Given the description of an element on the screen output the (x, y) to click on. 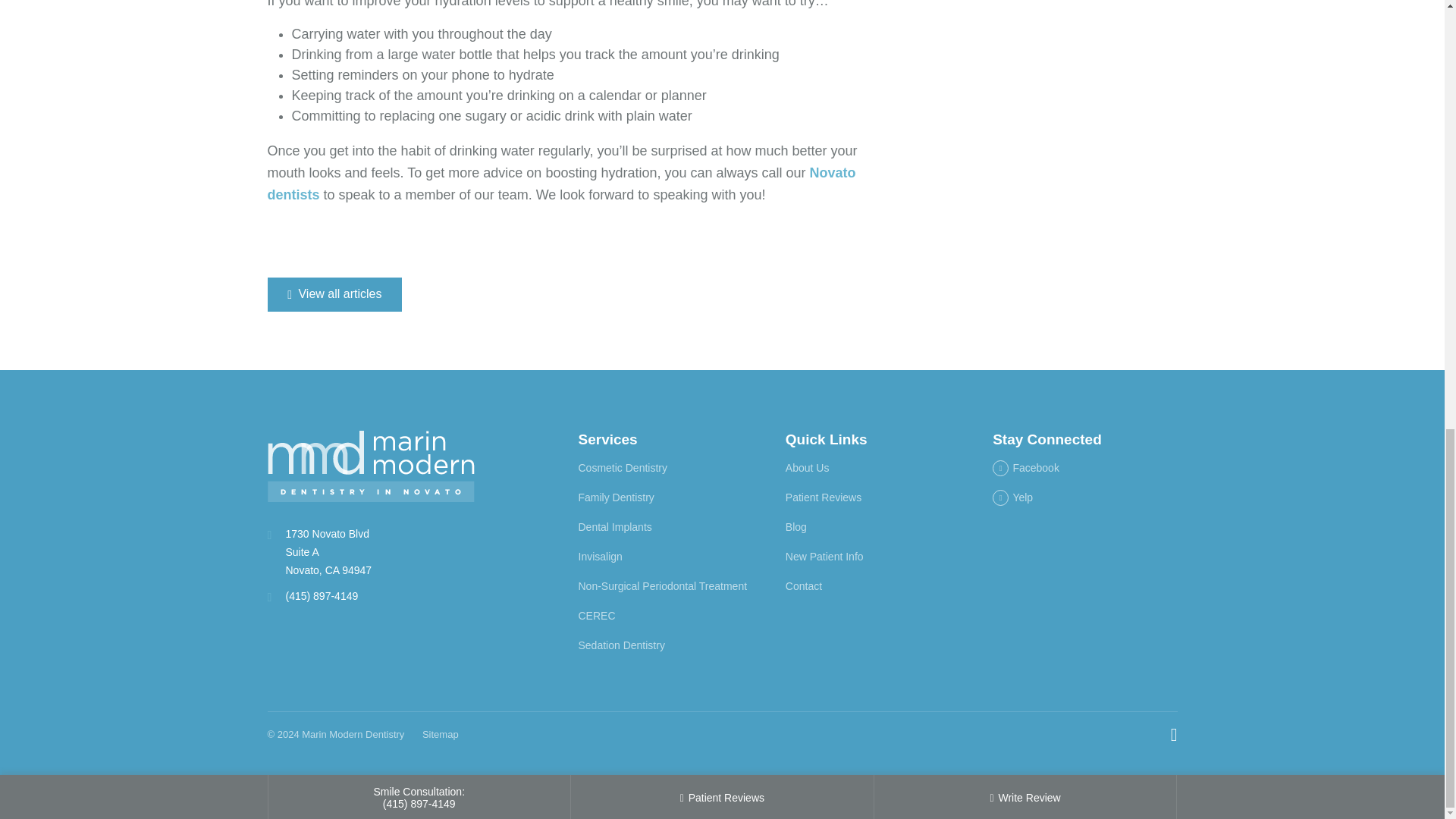
Novato dentists (561, 183)
Dental Implants (614, 526)
Family Dentistry (615, 497)
Non-Surgical Periodontal Treatment (662, 585)
CEREC (596, 615)
Blog (796, 526)
Patient Reviews (823, 497)
View all articles (333, 294)
facebook (1025, 467)
Sedation Dentistry (620, 645)
Cosmetic Dentistry (622, 467)
Invisalign (599, 556)
yelp (1012, 497)
New Patient Info (824, 556)
